Given the description of an element on the screen output the (x, y) to click on. 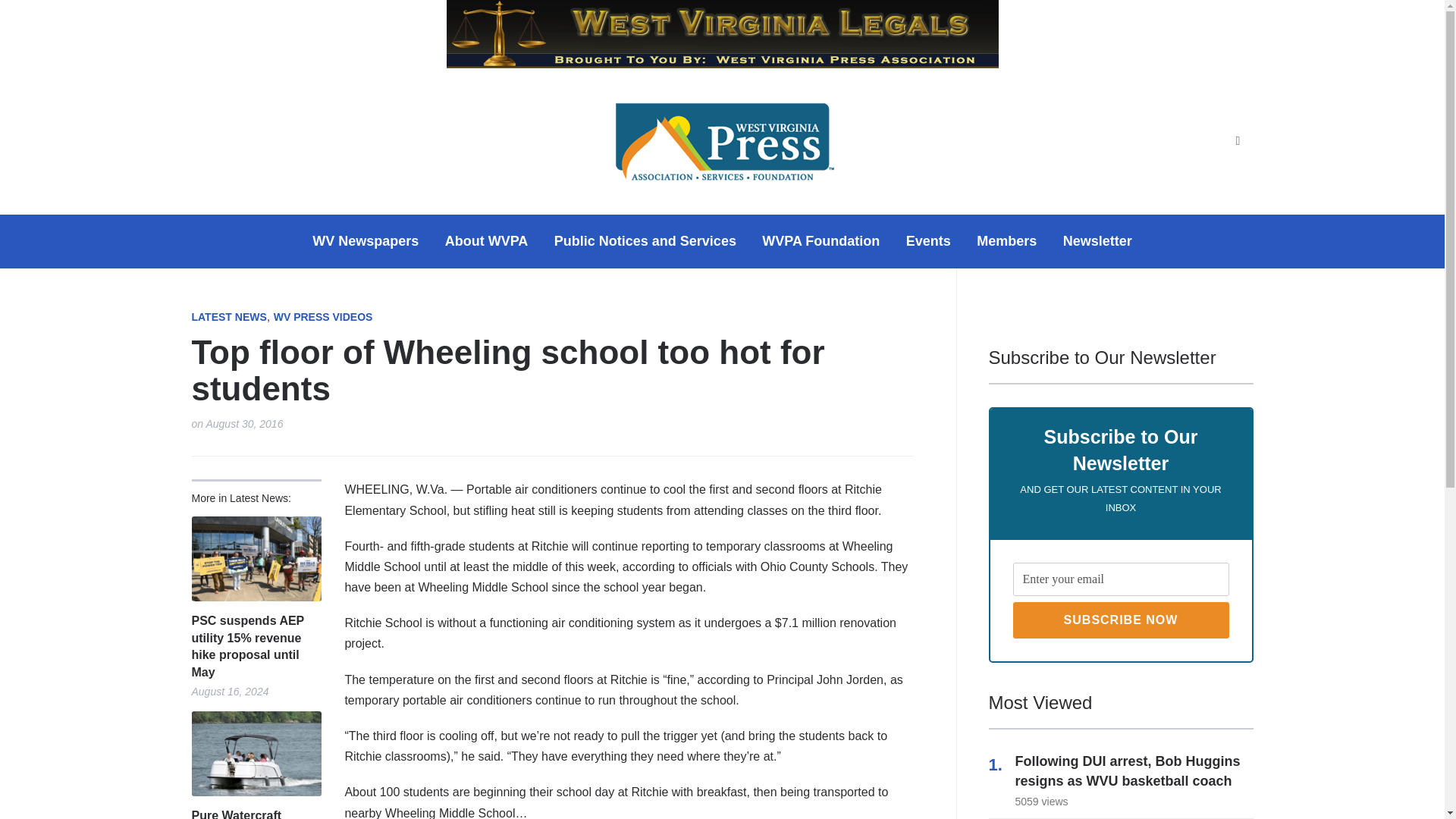
Search (1237, 141)
WV Newspapers (366, 241)
Permalink to Pure Watercraft closes Beech Bottom factory (255, 753)
About WVPA (486, 241)
Public Notices and Services (645, 241)
Permalink to Pure Watercraft closes Beech Bottom factory (255, 813)
Subscribe Now (1120, 619)
